Given the description of an element on the screen output the (x, y) to click on. 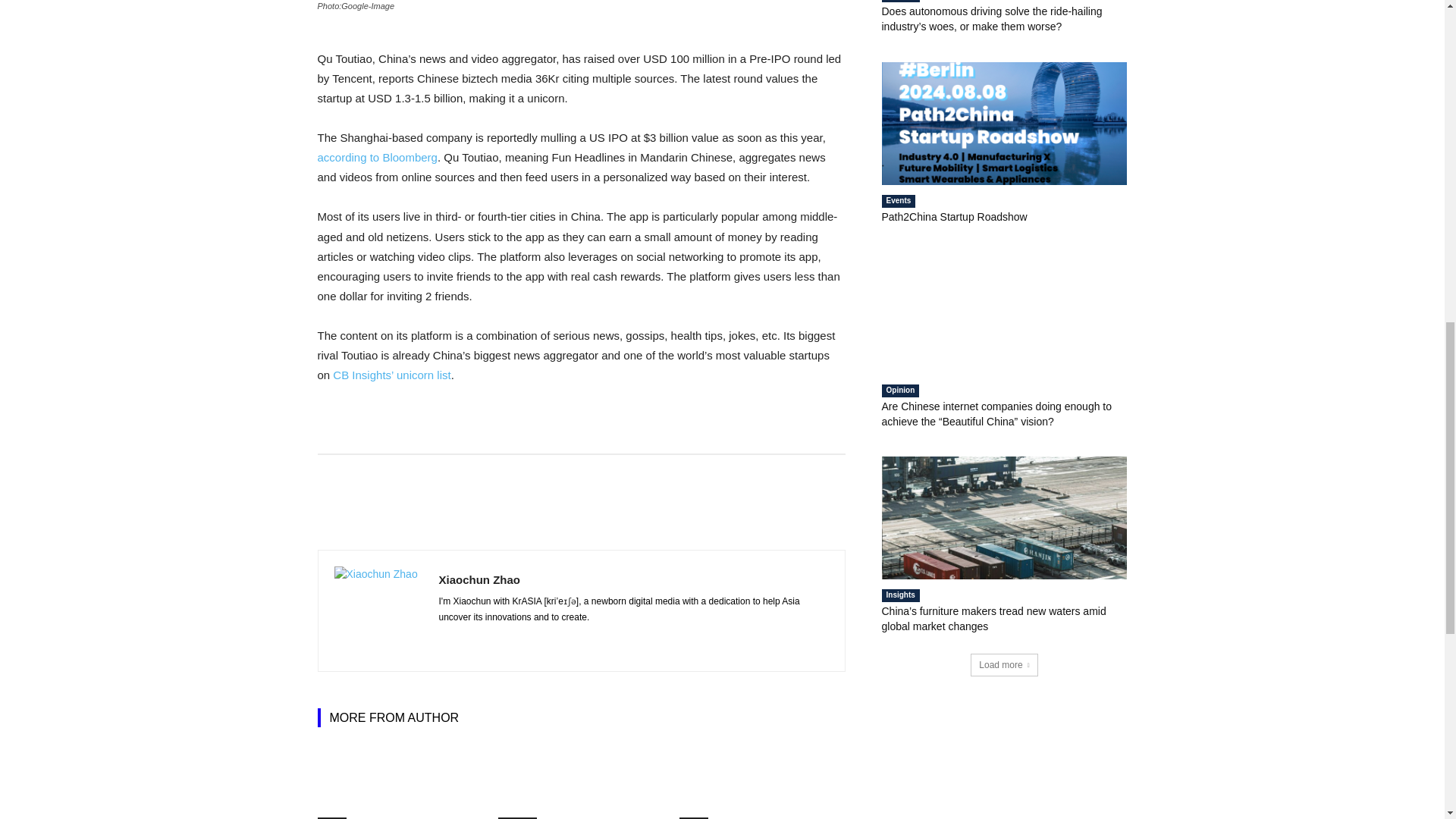
according to Bloomberg (376, 156)
Xiaochun Zhao (377, 610)
